Given the description of an element on the screen output the (x, y) to click on. 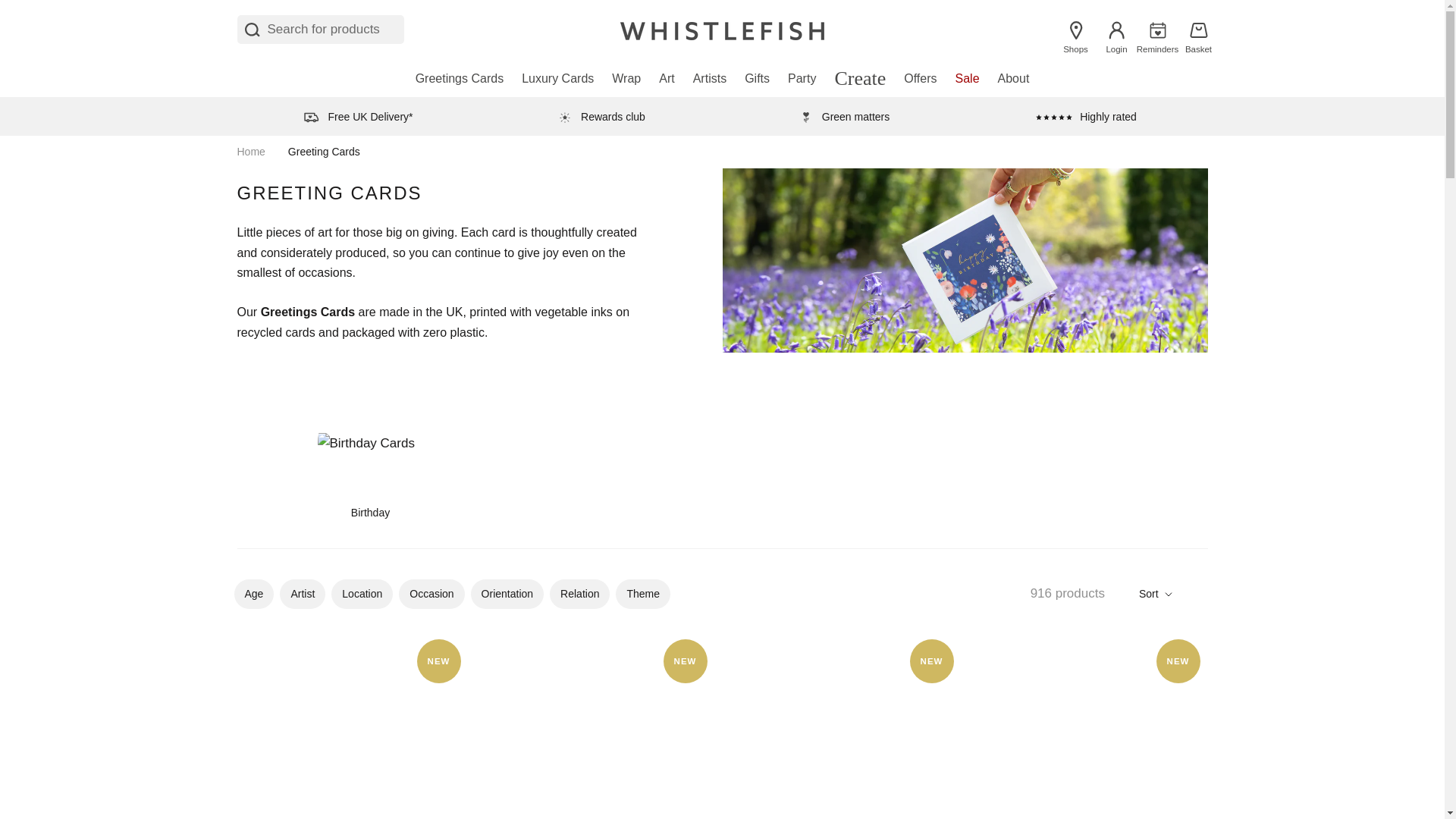
Delivery information (600, 116)
Green matters (843, 116)
Delivery information (357, 116)
Customer reviews (1086, 116)
Whistlefish homepage (722, 29)
